Given the description of an element on the screen output the (x, y) to click on. 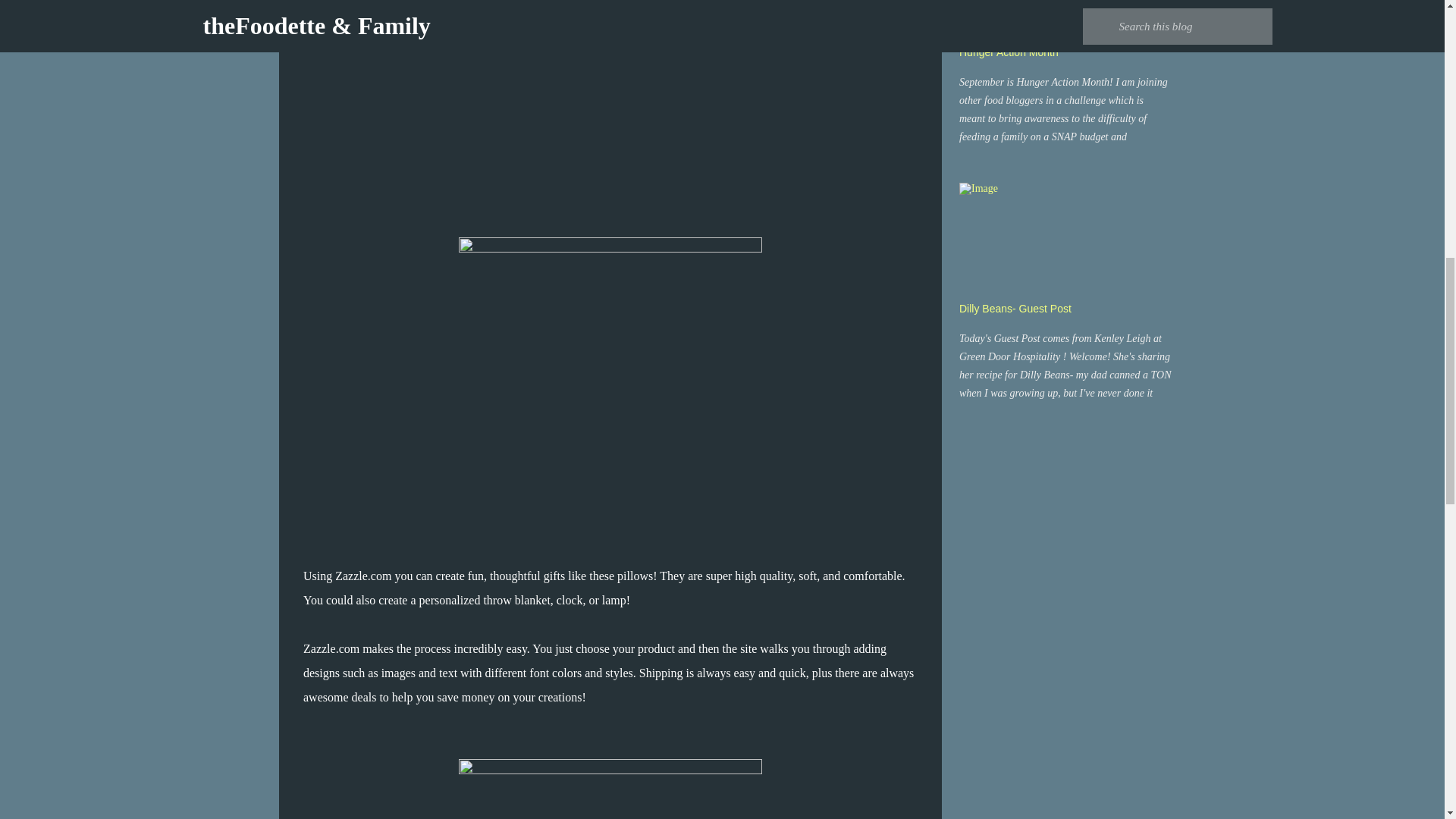
Zazzle.com (330, 648)
Hunger Action Month (1008, 51)
Zazzle.com (362, 575)
Dilly Beans- Guest Post (1015, 308)
